Given the description of an element on the screen output the (x, y) to click on. 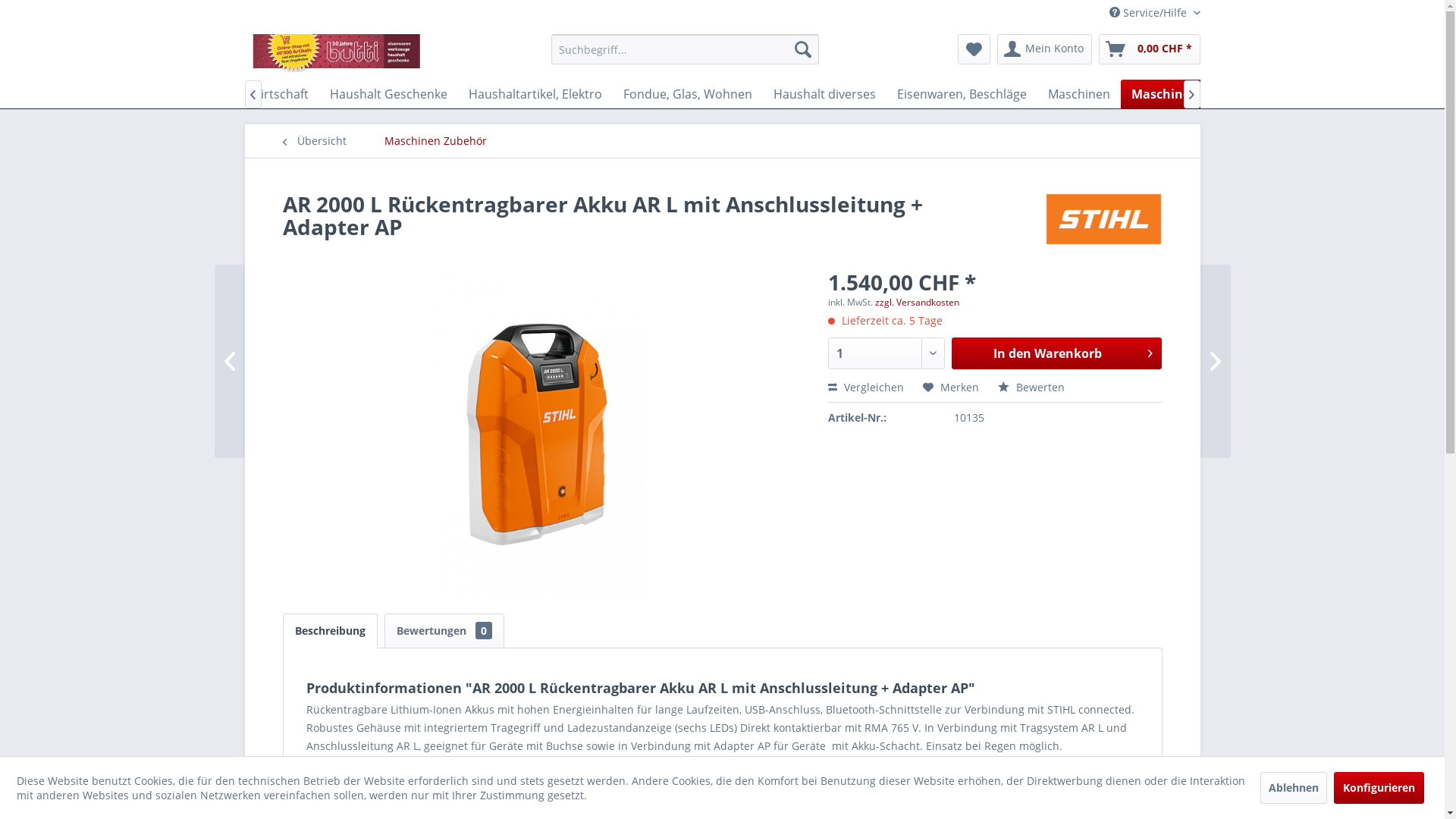
Garten, Landwirtschaft Element type: text (242, 93)
In den Warenkorb Element type: text (1056, 353)
Haushalt diverses Element type: text (824, 93)
0,00 CHF * Element type: text (1148, 49)
Haushalt Geschenke Element type: text (387, 93)
Merkzettel Element type: hover (973, 49)
zzgl. Versandkosten Element type: text (917, 301)
Haushaltartikel, Elektro Element type: text (535, 93)
Vergleichen Element type: text (865, 386)
Fondue, Glas, Wohnen Element type: text (687, 93)
Weitere Artikel von STIHL Element type: hover (1103, 218)
Maschinen Element type: text (1078, 93)
Beschreibung Element type: text (329, 630)
Bewerten Element type: text (1030, 386)
Mein Konto Element type: text (1043, 49)
Merken Element type: text (950, 386)
Bewertungen 0 Element type: text (443, 630)
Konfigurieren Element type: text (1378, 787)
Ablehnen Element type: text (1293, 787)
Butti Eisenwaren - zur Startseite wechseln Element type: hover (338, 53)
